Given the description of an element on the screen output the (x, y) to click on. 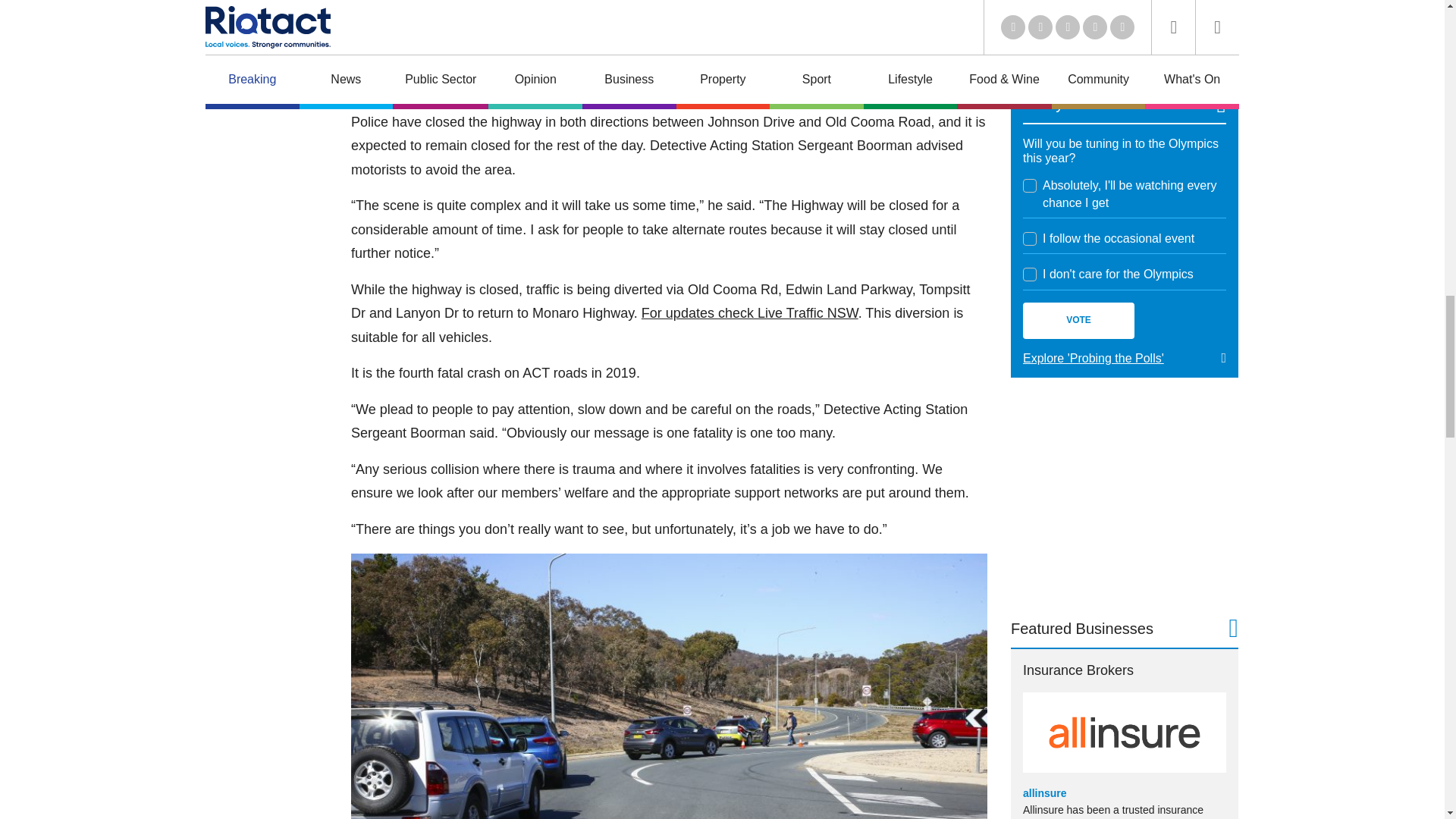
1 (458, 340)
LinkedIn (1102, 234)
1 (266, 340)
subscribe (507, 374)
1 (355, 340)
Twitter (1132, 234)
Youtube (1162, 234)
